Given the description of an element on the screen output the (x, y) to click on. 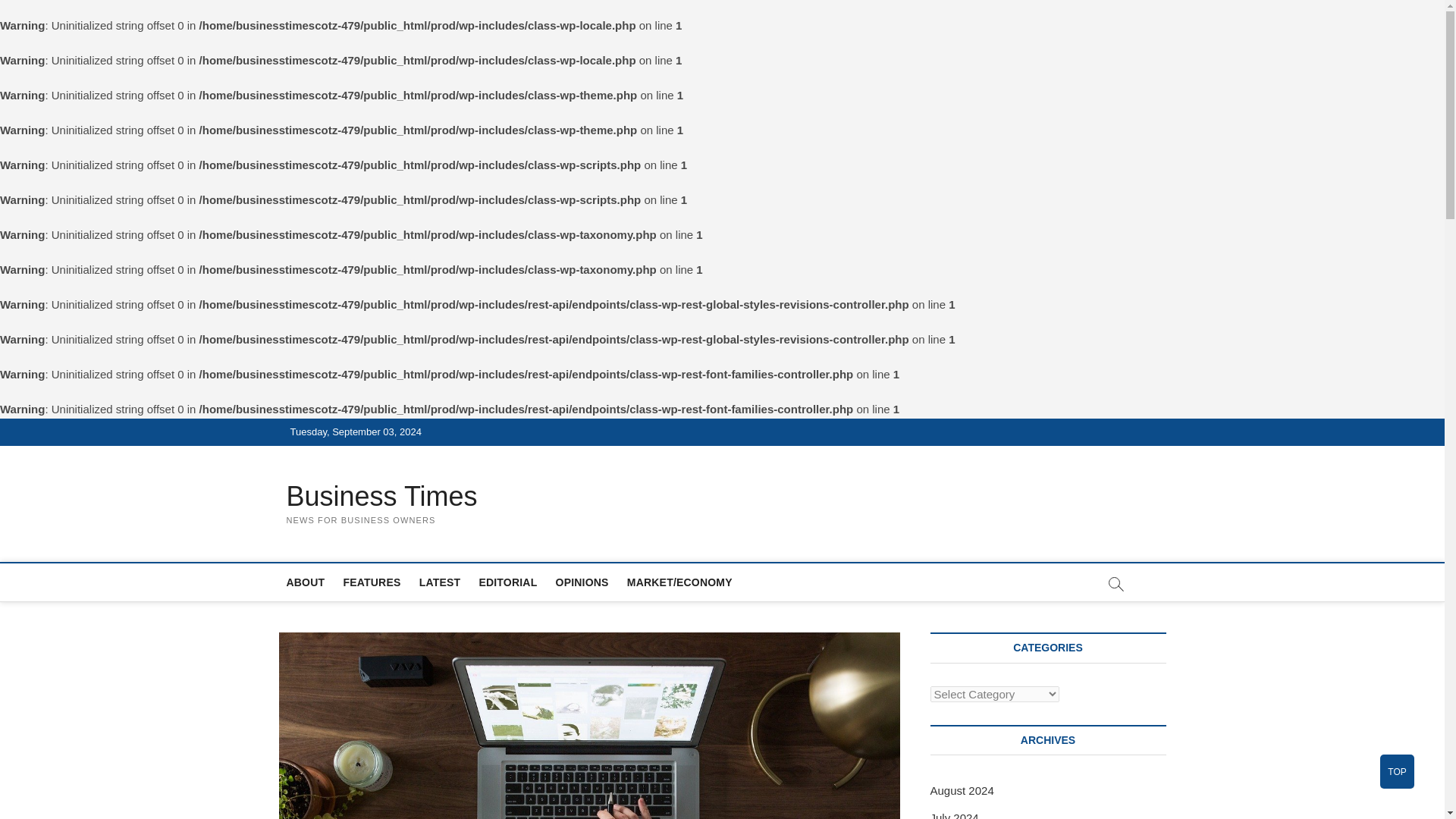
OPINIONS (581, 582)
July 2024 (954, 815)
LATEST (440, 582)
August 2024 (961, 789)
Business Times (381, 496)
EDITORIAL (507, 582)
ABOUT (306, 582)
Business Times (381, 496)
FEATURES (370, 582)
